Given the description of an element on the screen output the (x, y) to click on. 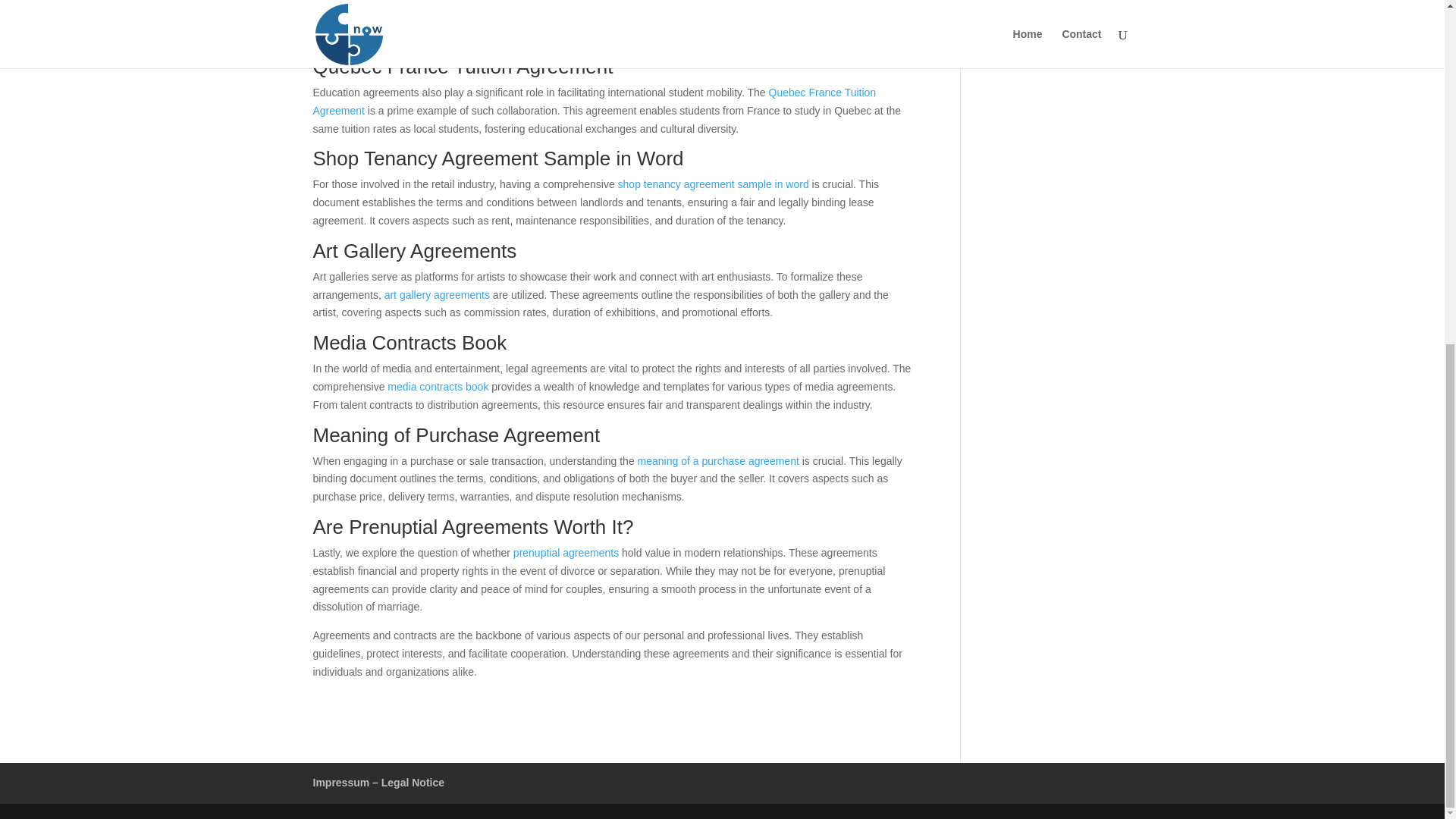
shop tenancy agreement sample in word (713, 184)
prenuptial agreements (565, 552)
double taxation agreements (471, 18)
art gallery agreements (436, 295)
media contracts book (437, 386)
Quebec France Tuition Agreement (594, 101)
meaning of a purchase agreement (718, 460)
